Given the description of an element on the screen output the (x, y) to click on. 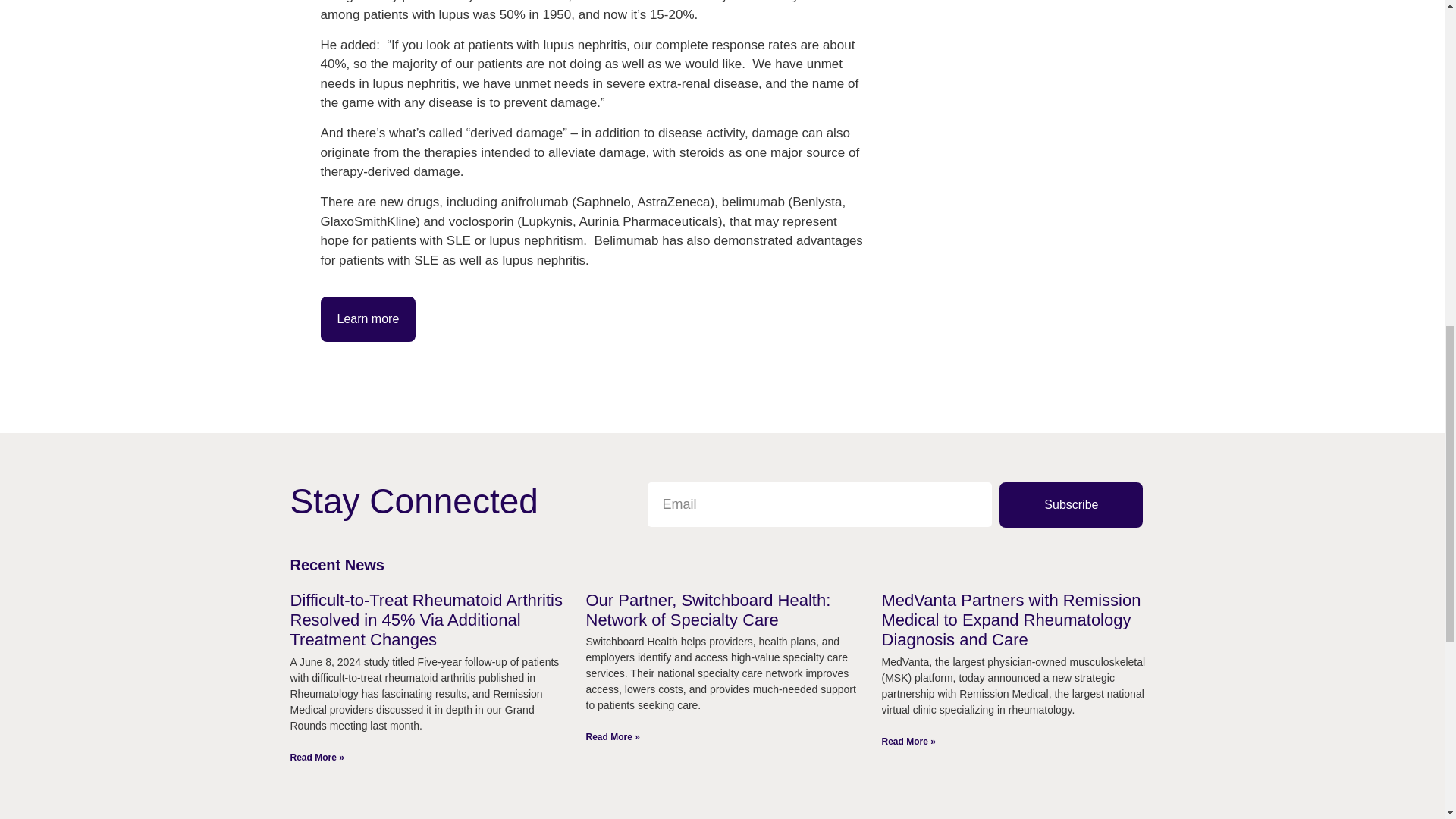
Learn more (367, 319)
